Given the description of an element on the screen output the (x, y) to click on. 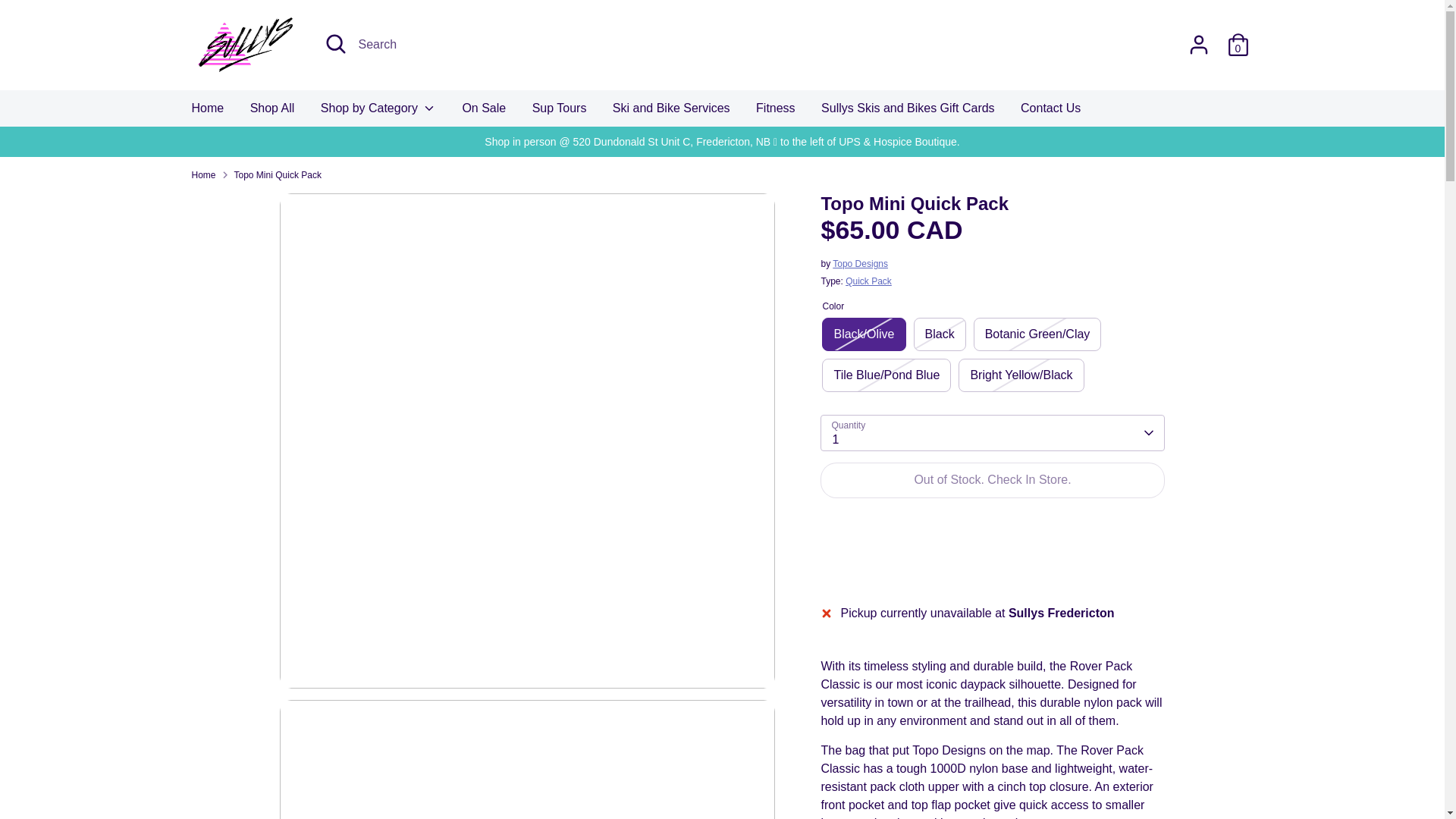
0 (1237, 44)
